Given the description of an element on the screen output the (x, y) to click on. 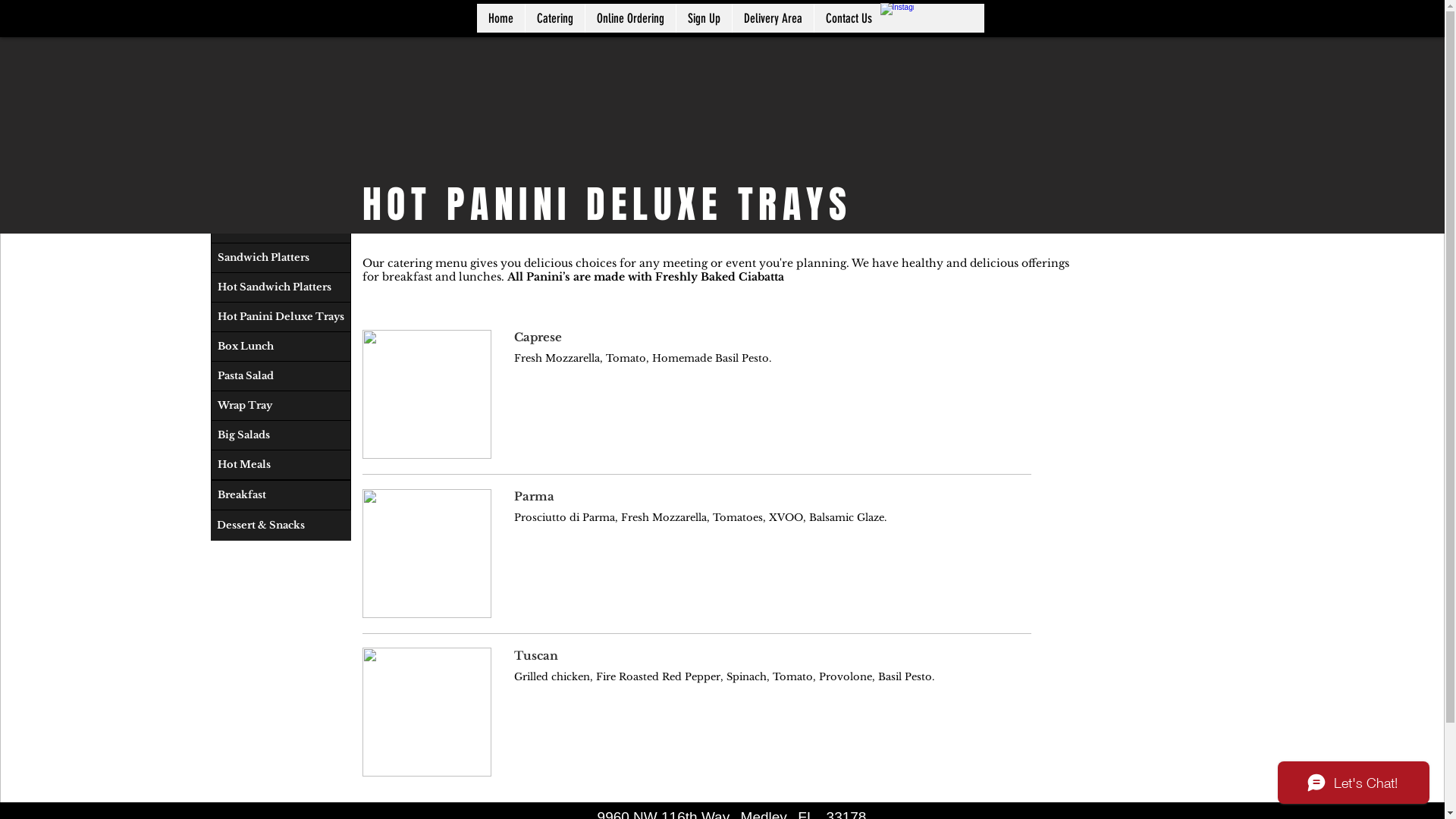
Hot Sandwich Platters Element type: text (280, 287)
Hot Panini Deluxe Trays Element type: text (280, 316)
Box Lunch Element type: text (280, 346)
Delivery Area Element type: text (771, 17)
Dessert & Snacks Element type: text (280, 525)
Tuscan Panini.jpg Element type: hover (426, 711)
Appetizers Element type: text (280, 197)
Prosciutto Parma Panini.jpg Element type: hover (426, 552)
Wrap Tray Element type: text (280, 405)
Sign Up Element type: text (702, 17)
Sandwich Platters Element type: text (280, 257)
Club Platter Element type: text (280, 228)
Caprese Panini2.jpg Element type: hover (426, 393)
Big Salads Element type: text (280, 435)
Pasta Salad Element type: text (280, 375)
Hot Meals Element type: text (280, 464)
Home Element type: text (500, 17)
Online Ordering Element type: text (628, 17)
Contact Us Element type: text (847, 17)
Catering Element type: text (554, 17)
Breakfast Element type: text (280, 495)
